Given the description of an element on the screen output the (x, y) to click on. 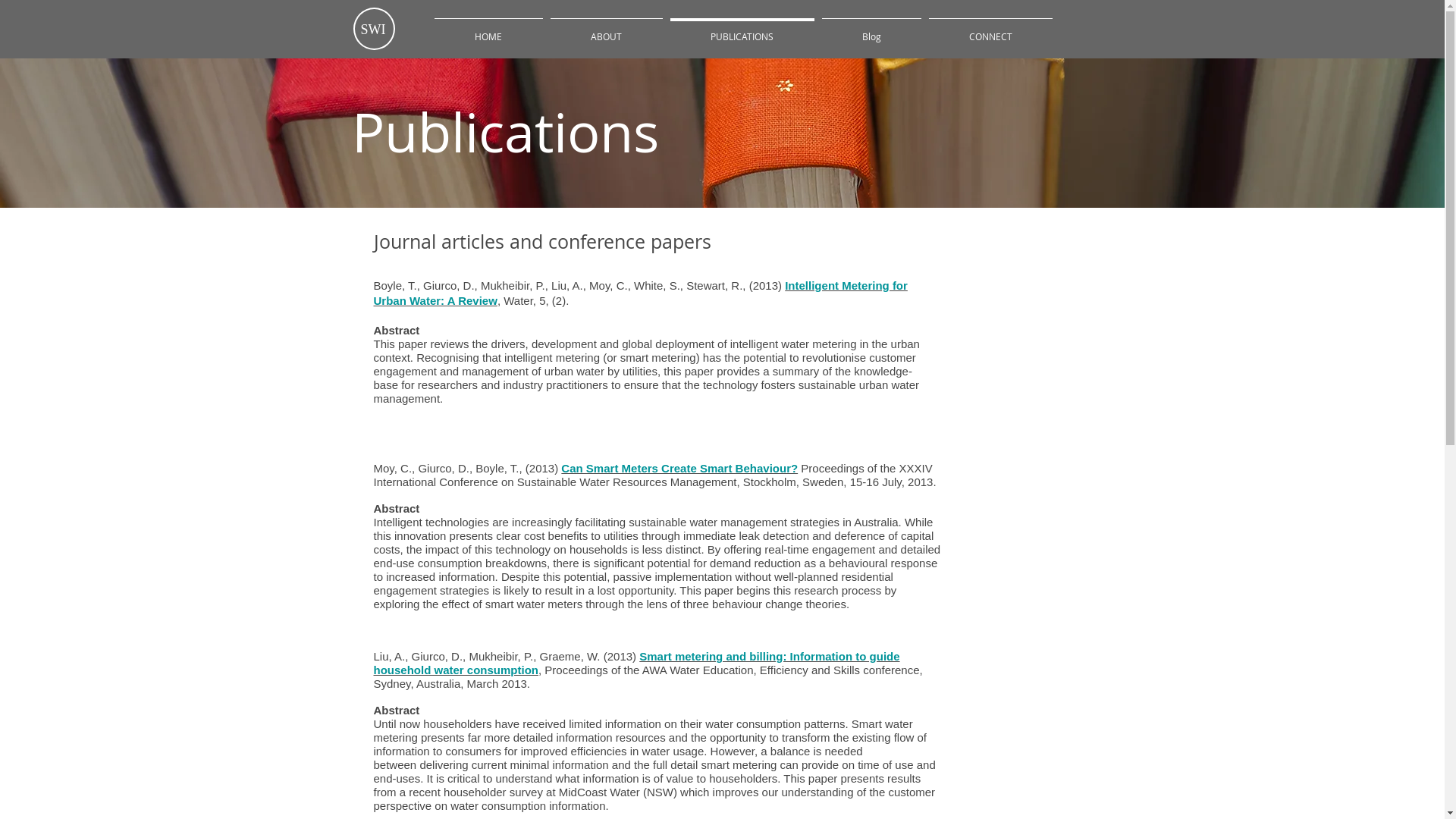
Blog Element type: text (870, 29)
CONNECT Element type: text (990, 29)
ABOUT Element type: text (605, 29)
HOME Element type: text (488, 29)
Intelligent Metering for Urban Water: A Review Element type: text (639, 293)
PUBLICATIONS Element type: text (741, 29)
D. Element type: text (456, 655)
Mukheibir, P. Element type: text (500, 655)
Giurco,  Element type: text (431, 655)
